Given the description of an element on the screen output the (x, y) to click on. 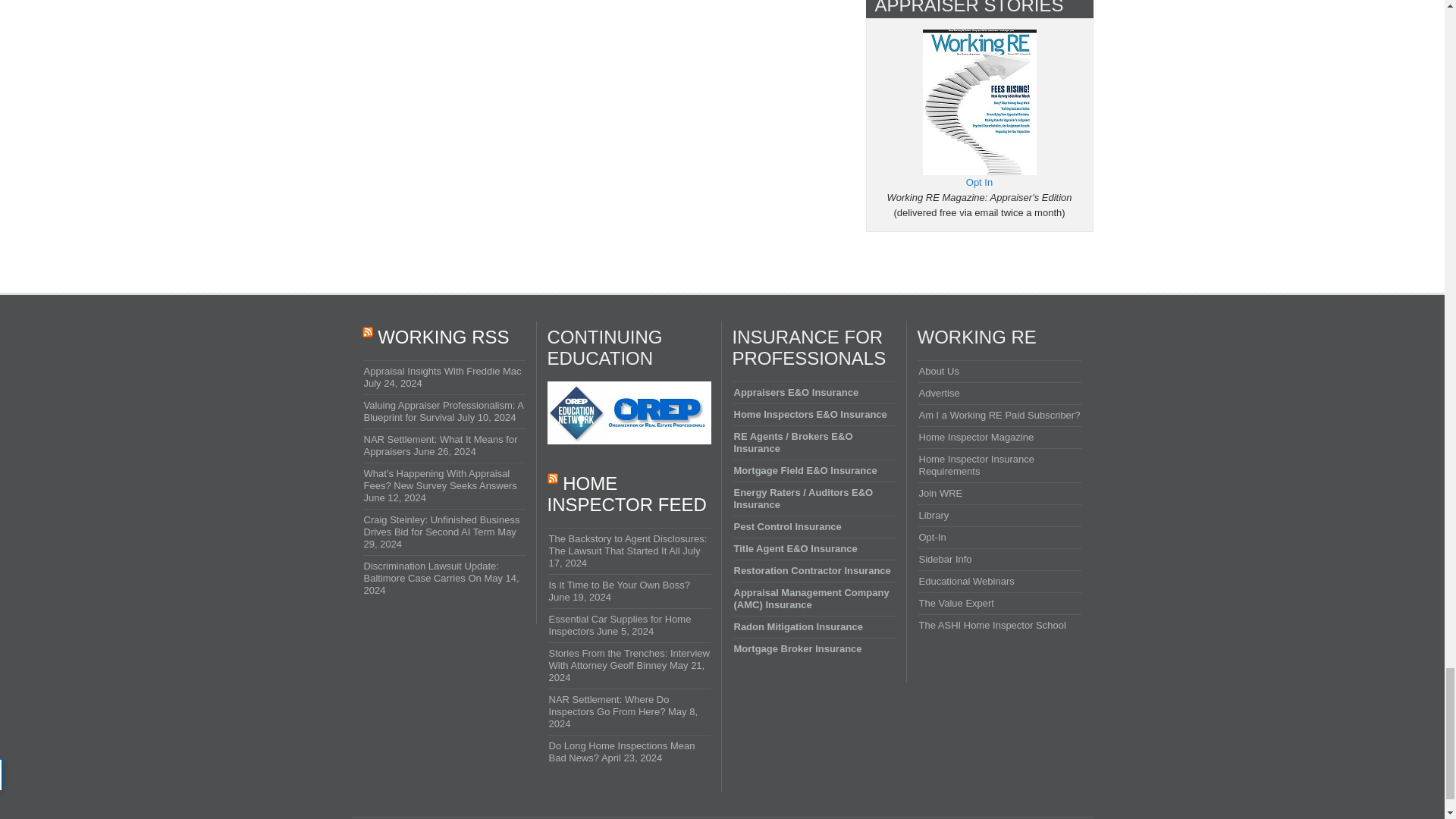
Appraiser News Stories (978, 36)
